Given the description of an element on the screen output the (x, y) to click on. 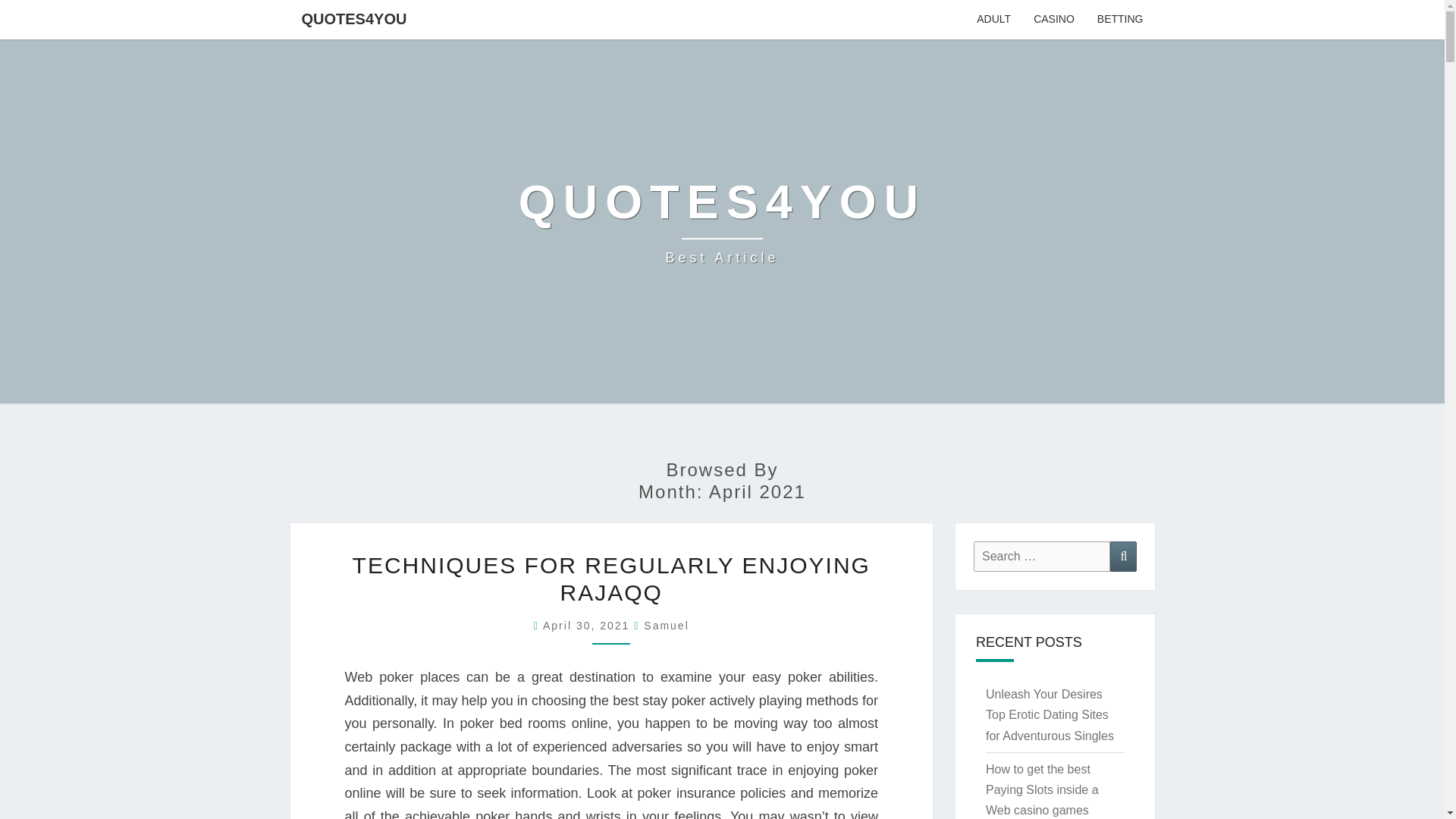
Quotes4you (722, 221)
April 30, 2021 (588, 625)
TECHNIQUES FOR REGULARLY ENJOYING RAJAQQ (611, 578)
Samuel (665, 625)
BETTING (1120, 19)
View all posts by Samuel (665, 625)
QUOTES4YOU (353, 18)
CASINO (1054, 19)
ADULT (722, 221)
10:14 am (993, 19)
